Given the description of an element on the screen output the (x, y) to click on. 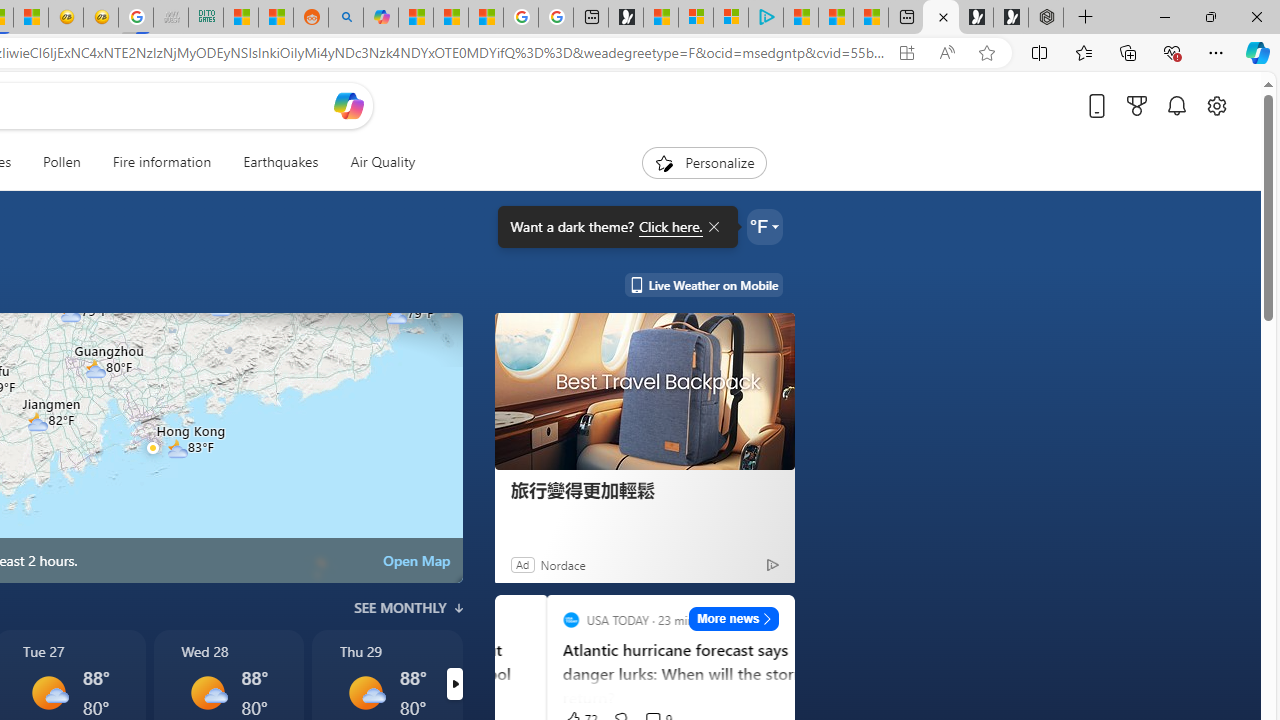
Earthquakes (280, 162)
These 3 Stocks Pay You More Than 5% to Own Them (870, 17)
Weather settings (764, 226)
Earthquakes (280, 162)
Pollen (61, 162)
Personalize (703, 162)
